Given the description of an element on the screen output the (x, y) to click on. 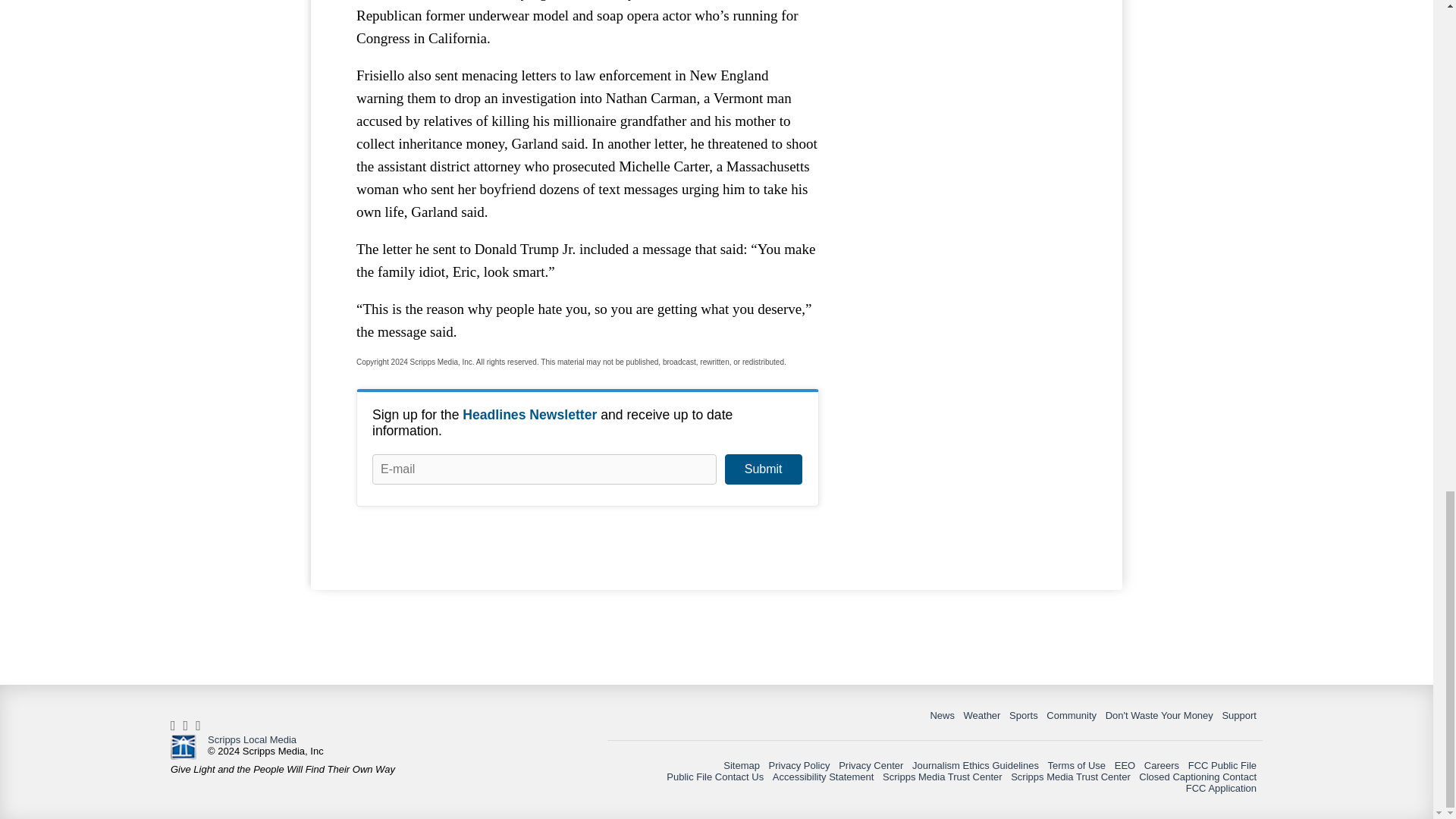
Submit (763, 469)
